Given the description of an element on the screen output the (x, y) to click on. 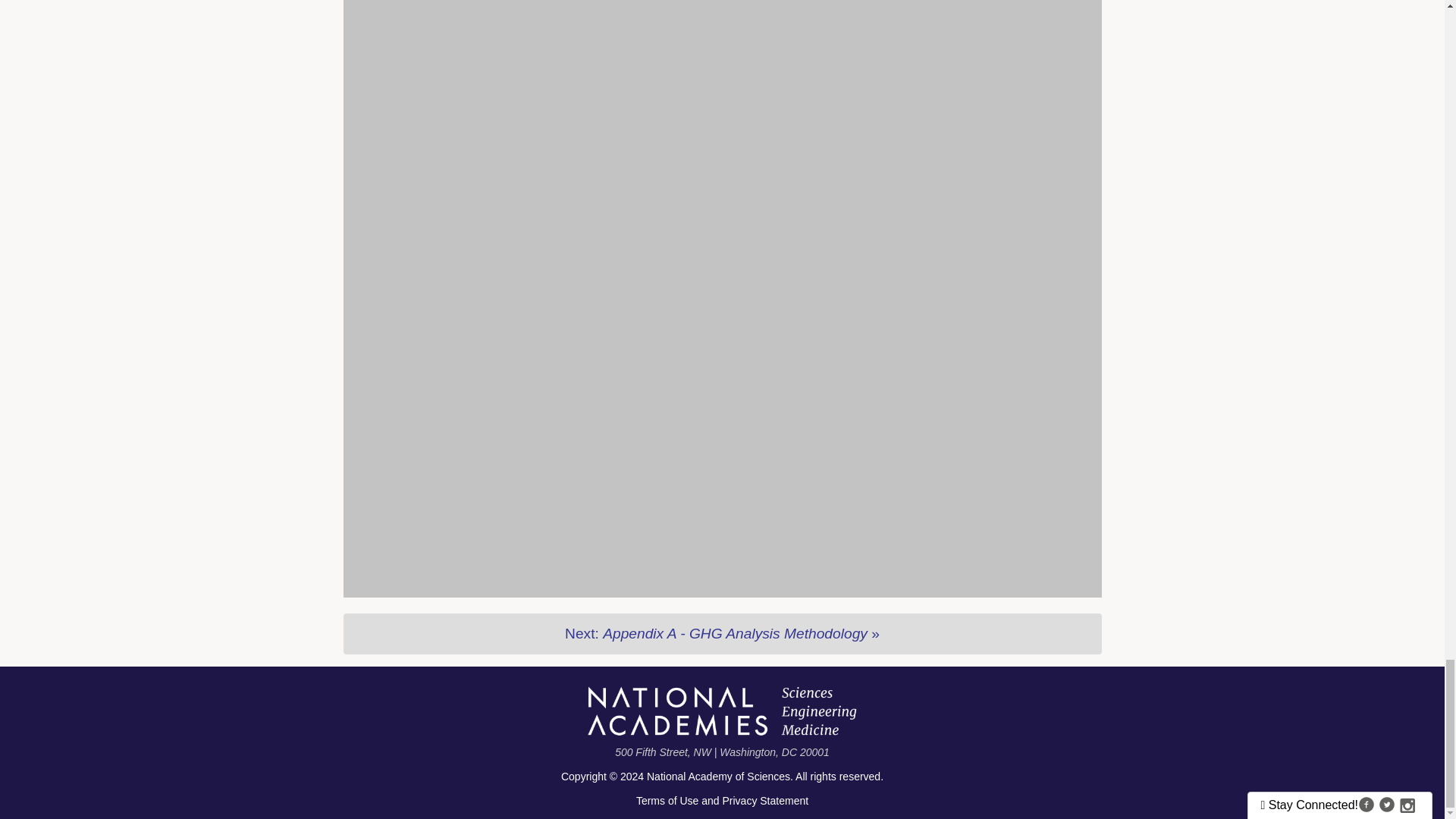
Next Chapter (721, 633)
